Given the description of an element on the screen output the (x, y) to click on. 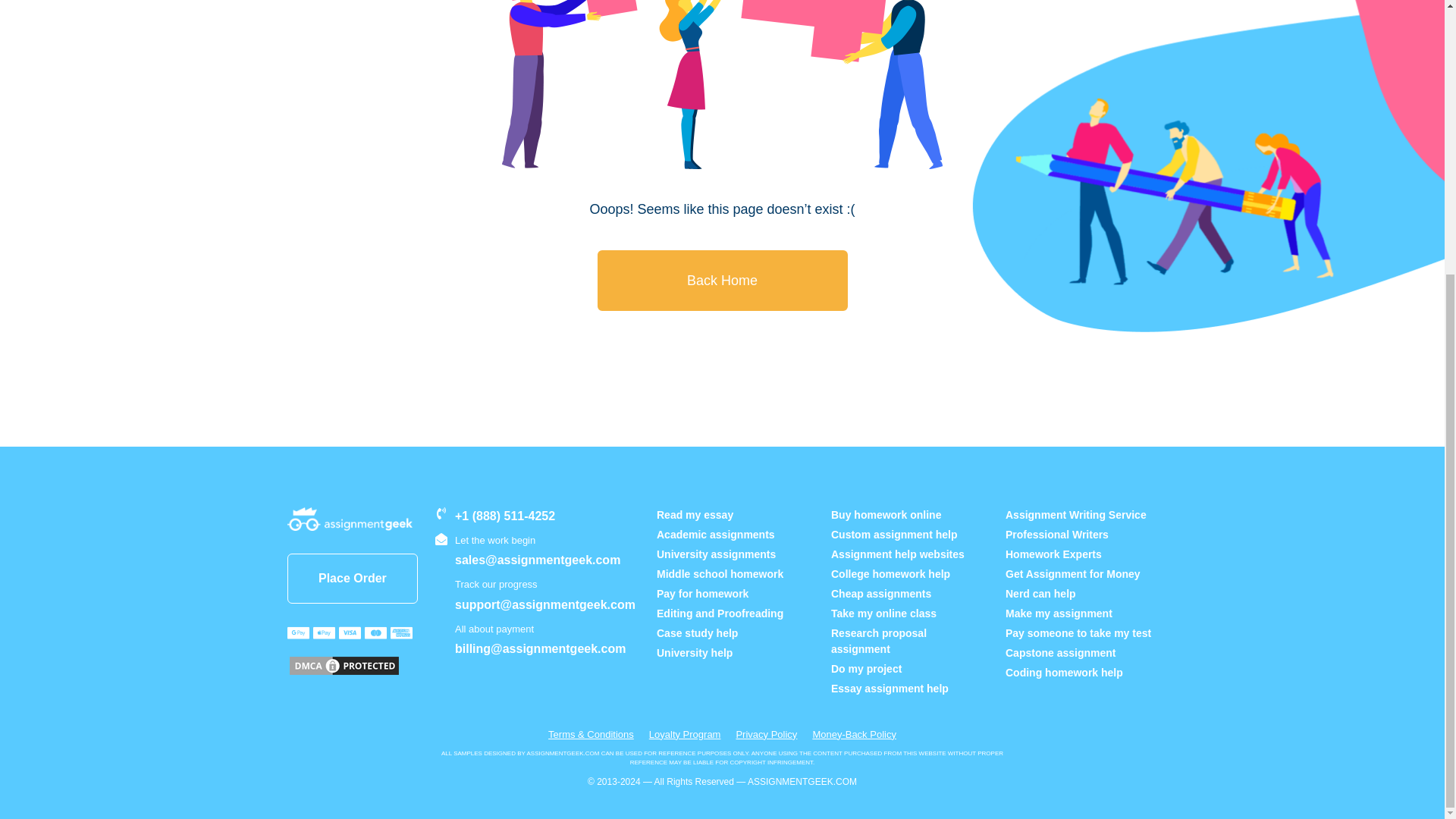
DMCA.com Protection Status (343, 665)
